Given the description of an element on the screen output the (x, y) to click on. 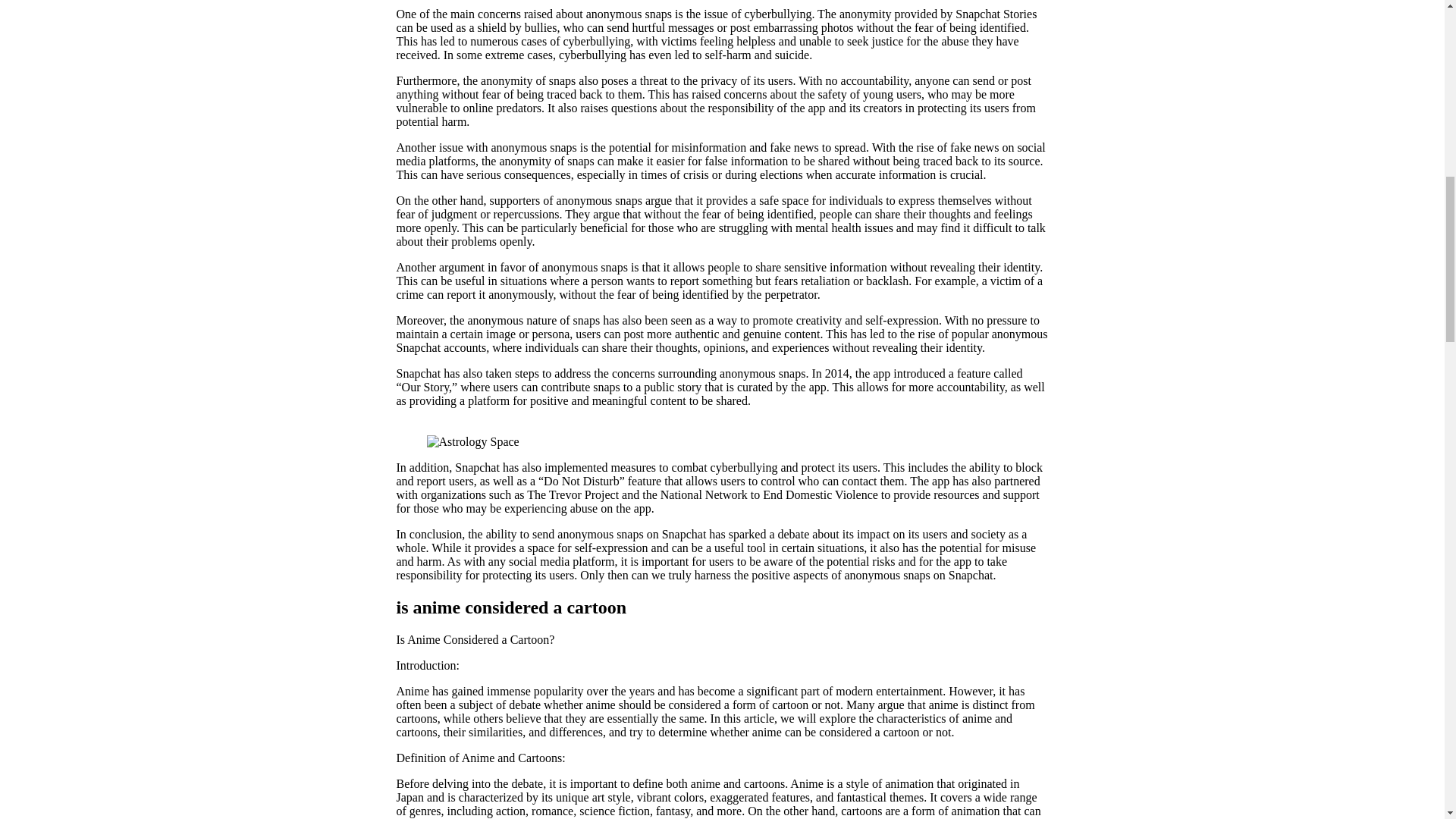
Astrology Space (472, 441)
